Given the description of an element on the screen output the (x, y) to click on. 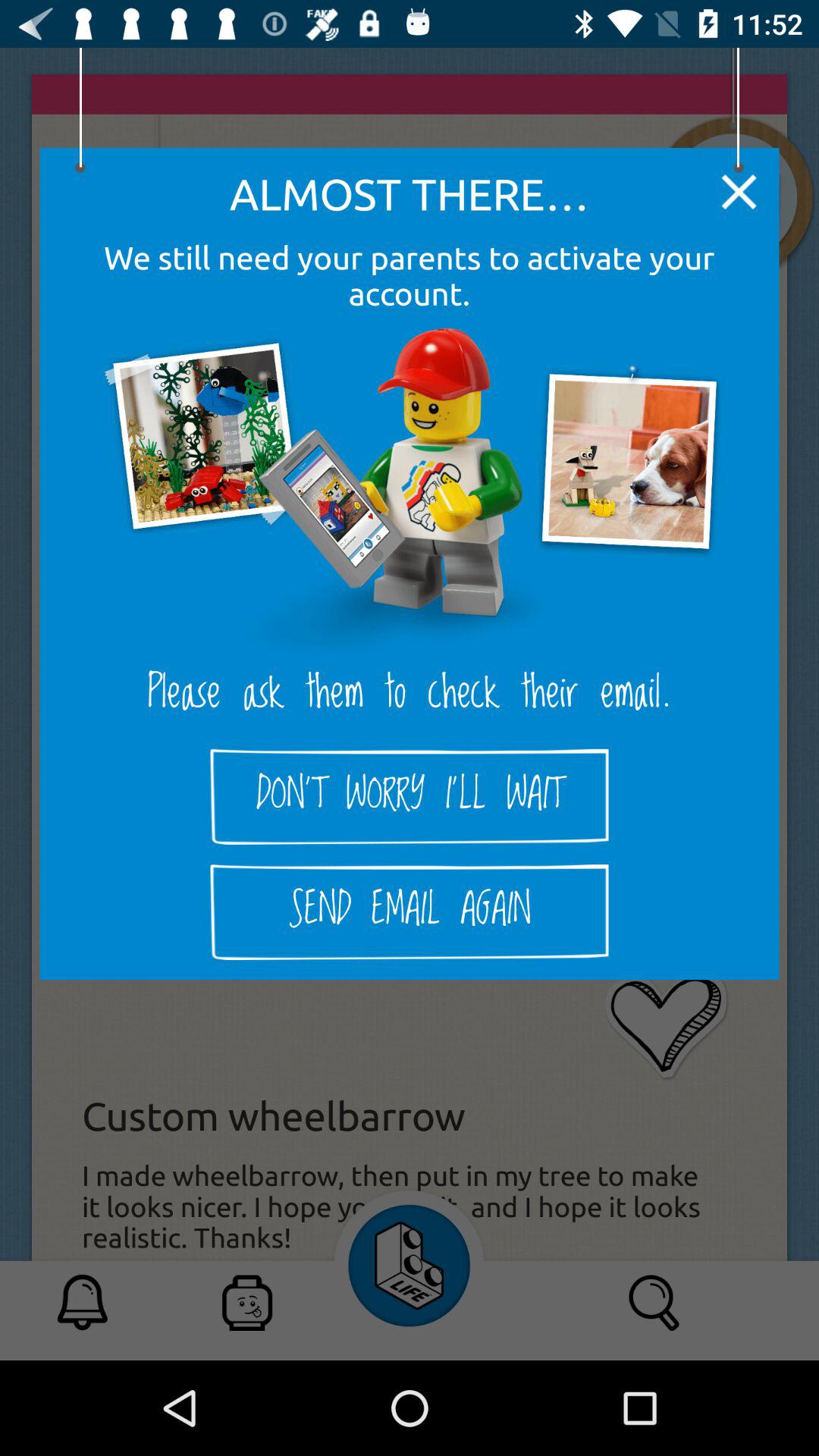
select the icon below the don t worry icon (409, 912)
